Given the description of an element on the screen output the (x, y) to click on. 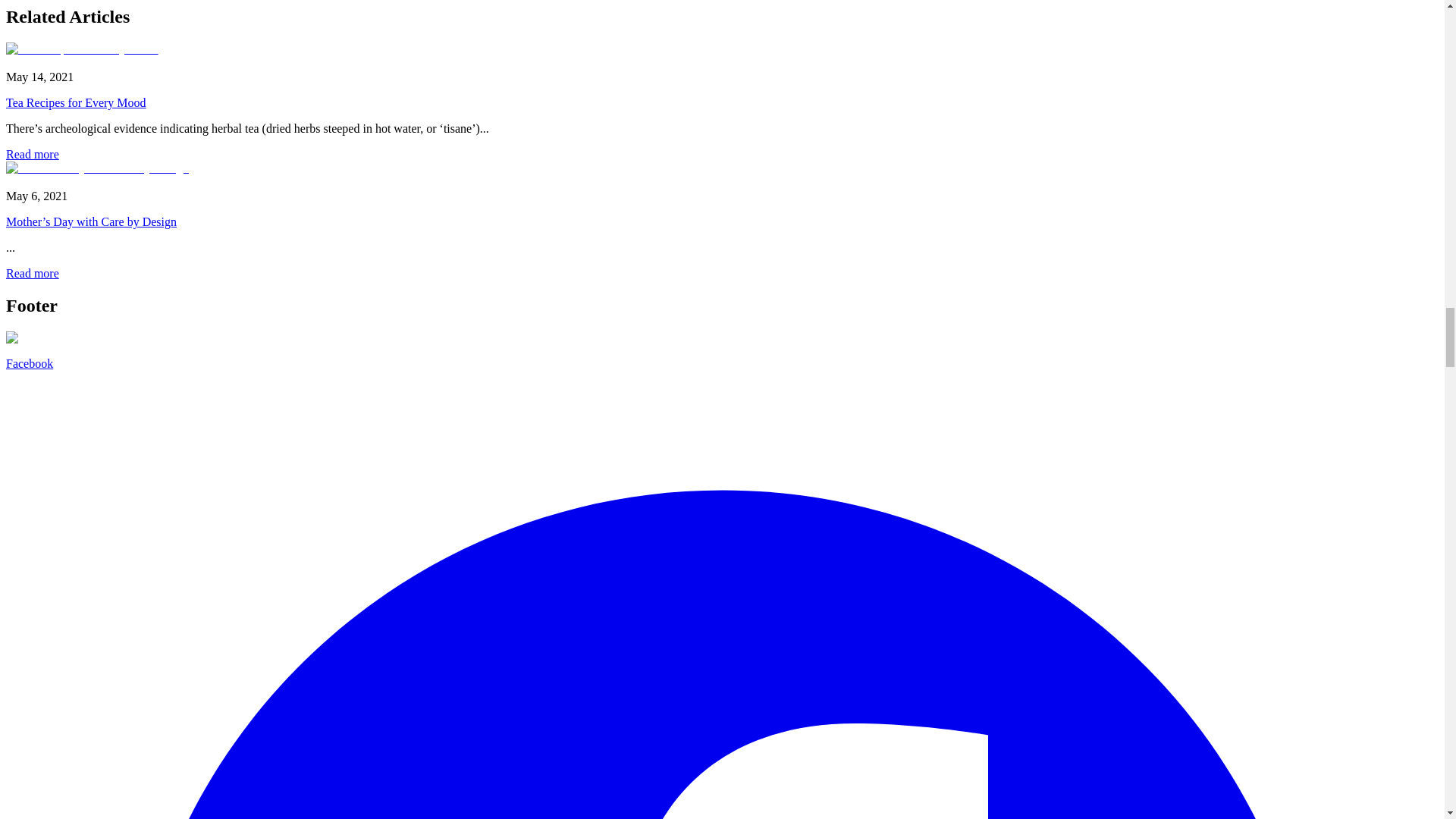
Read more (32, 154)
Read more (32, 273)
Tea Recipes for Every Mood (76, 102)
